Given the description of an element on the screen output the (x, y) to click on. 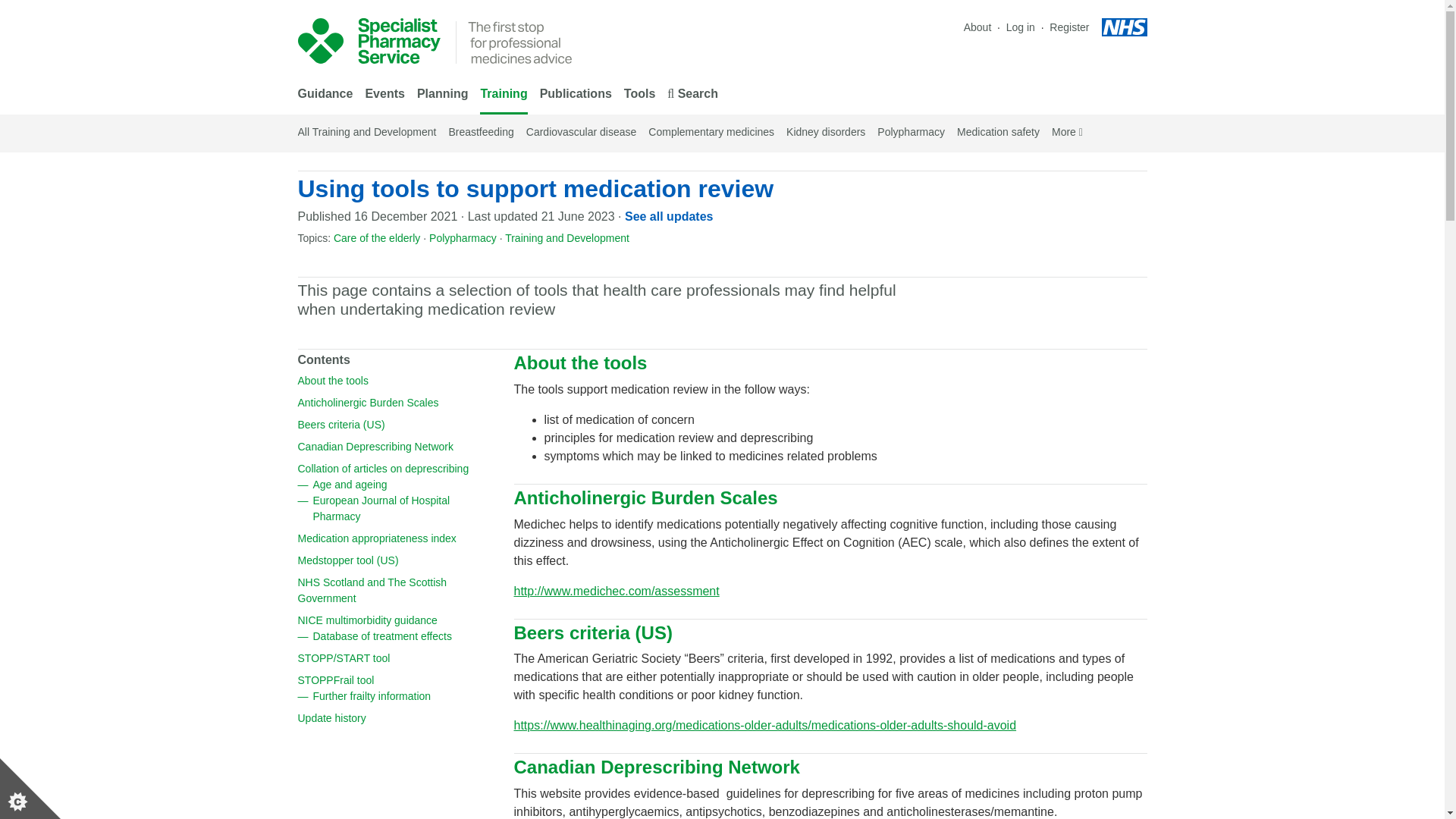
Log in (1022, 27)
About (977, 27)
Register (1069, 27)
NHS (1123, 27)
Guidance (324, 95)
SPS - Specialist Pharmacy Service (368, 40)
